Given the description of an element on the screen output the (x, y) to click on. 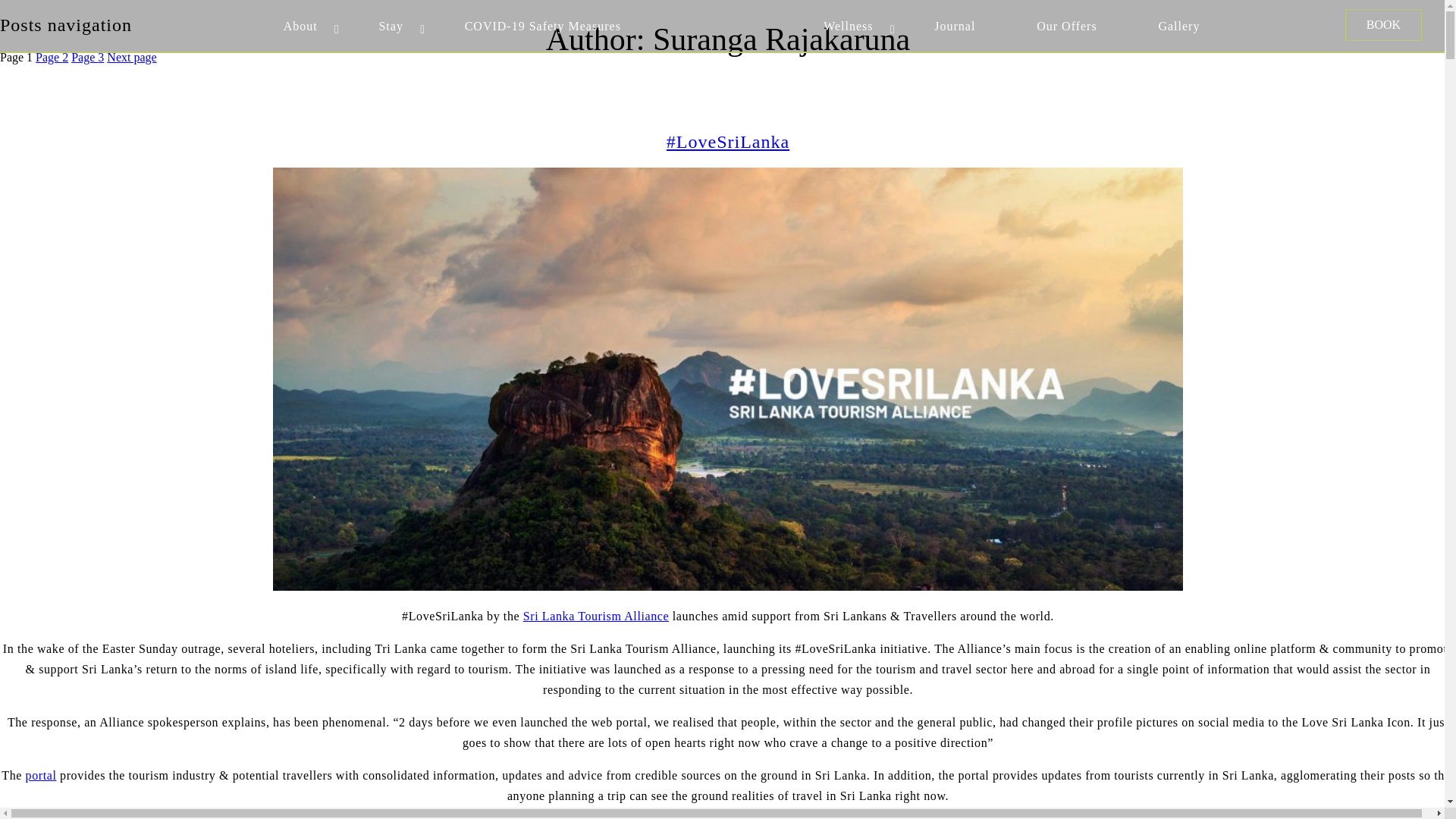
Our Offers (1066, 25)
Stay (390, 25)
Journal (954, 25)
Wellness (848, 25)
COVID-19 Safety Measures (542, 25)
BOOK (1383, 24)
Gallery (1178, 25)
About (300, 25)
